Given the description of an element on the screen output the (x, y) to click on. 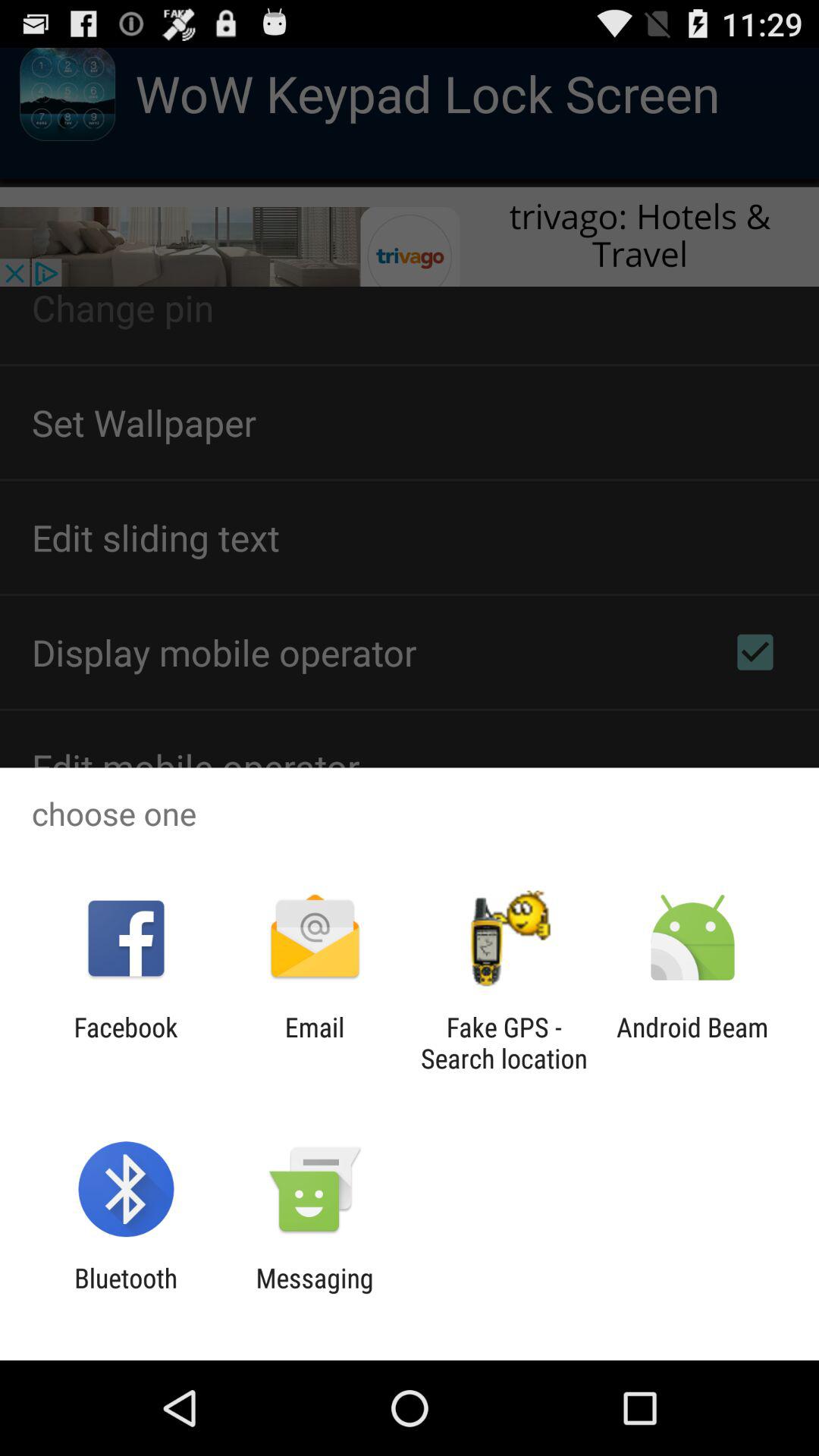
turn off the item to the left of fake gps search icon (314, 1042)
